Given the description of an element on the screen output the (x, y) to click on. 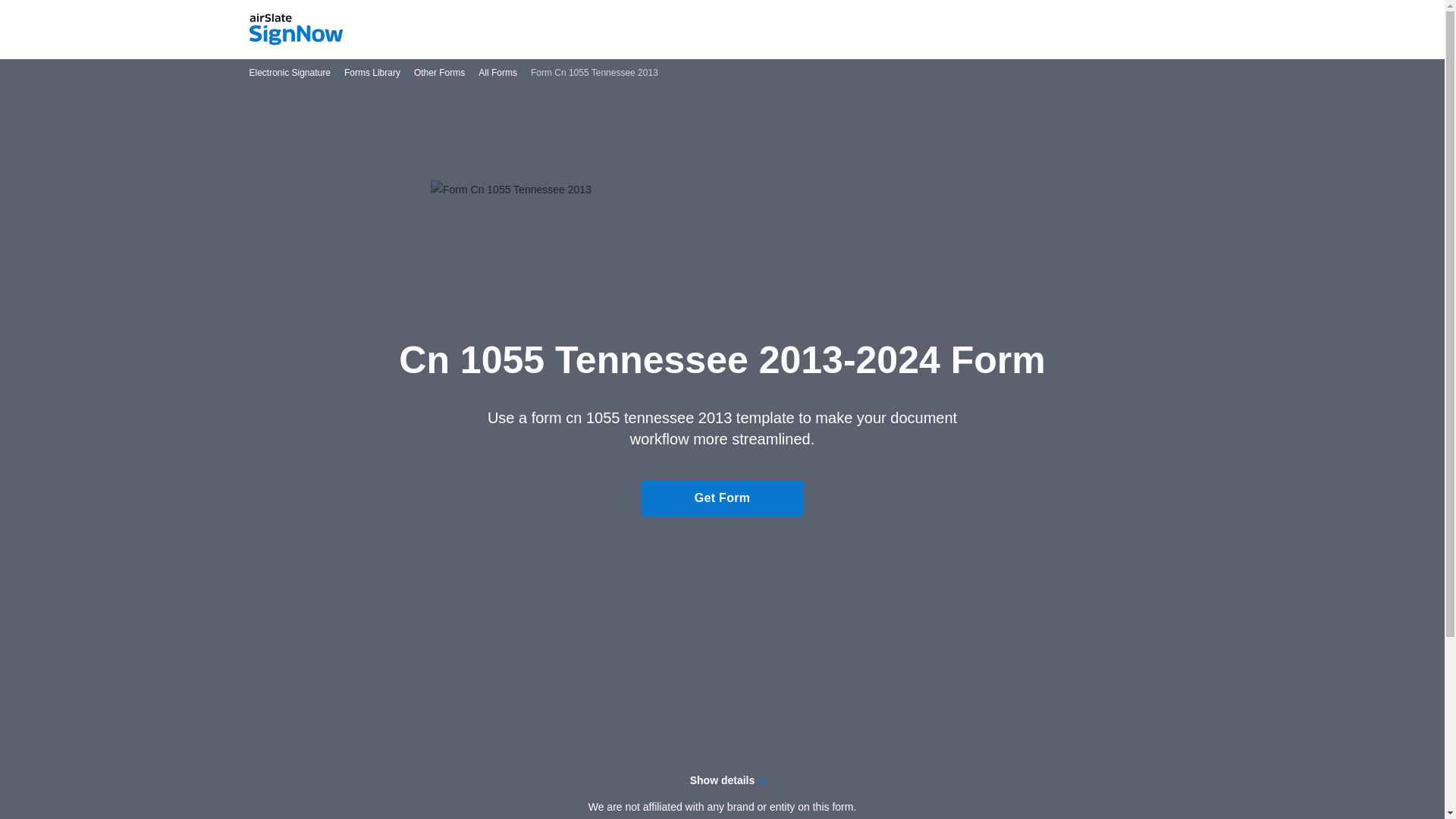
All Forms (497, 73)
Other Forms (438, 73)
Show details (722, 780)
signNow (295, 29)
Forms Library (371, 73)
Electronic Signature (289, 73)
Get Form (722, 497)
